Given the description of an element on the screen output the (x, y) to click on. 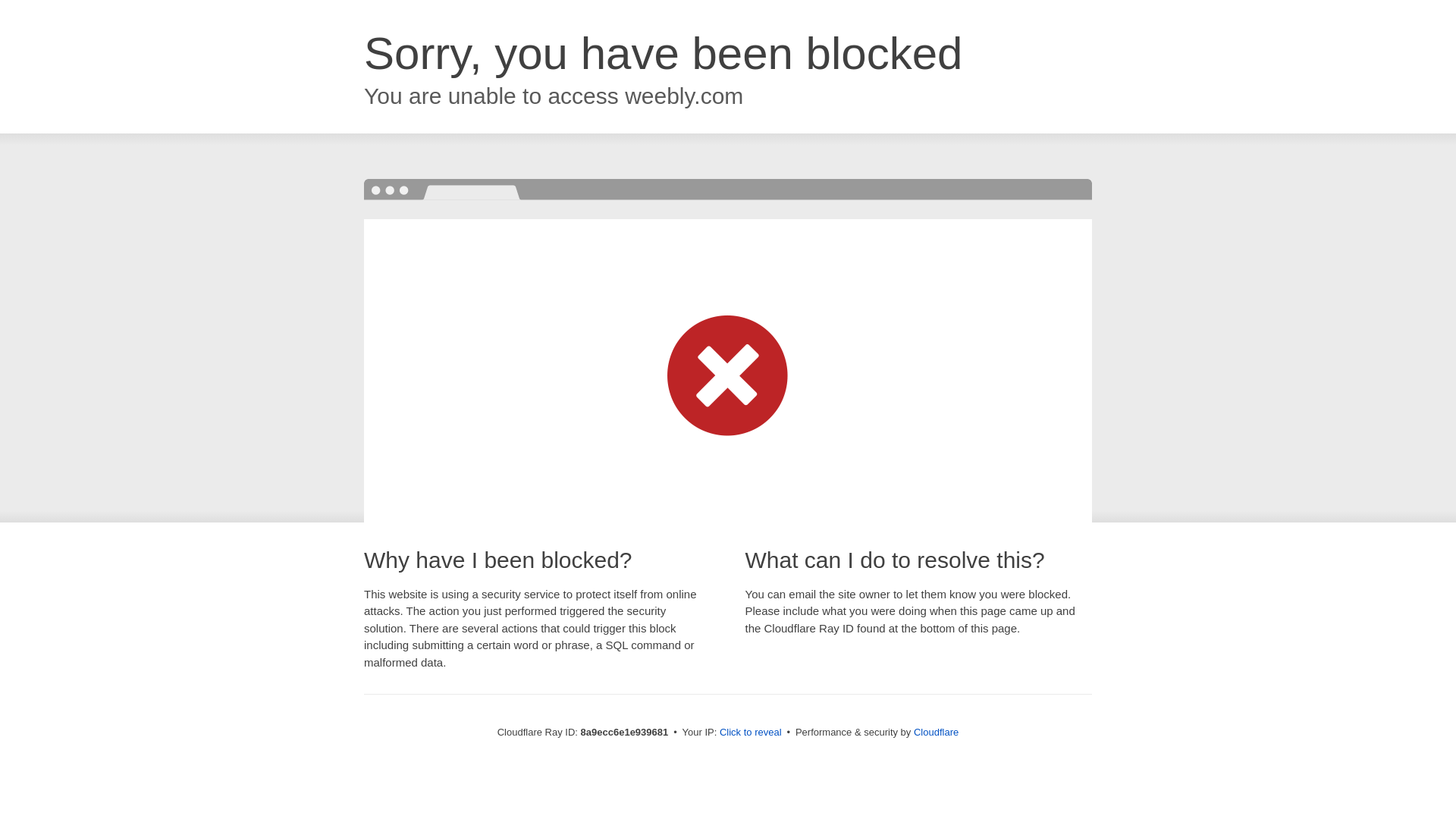
Click to reveal (750, 732)
Cloudflare (936, 731)
